Given the description of an element on the screen output the (x, y) to click on. 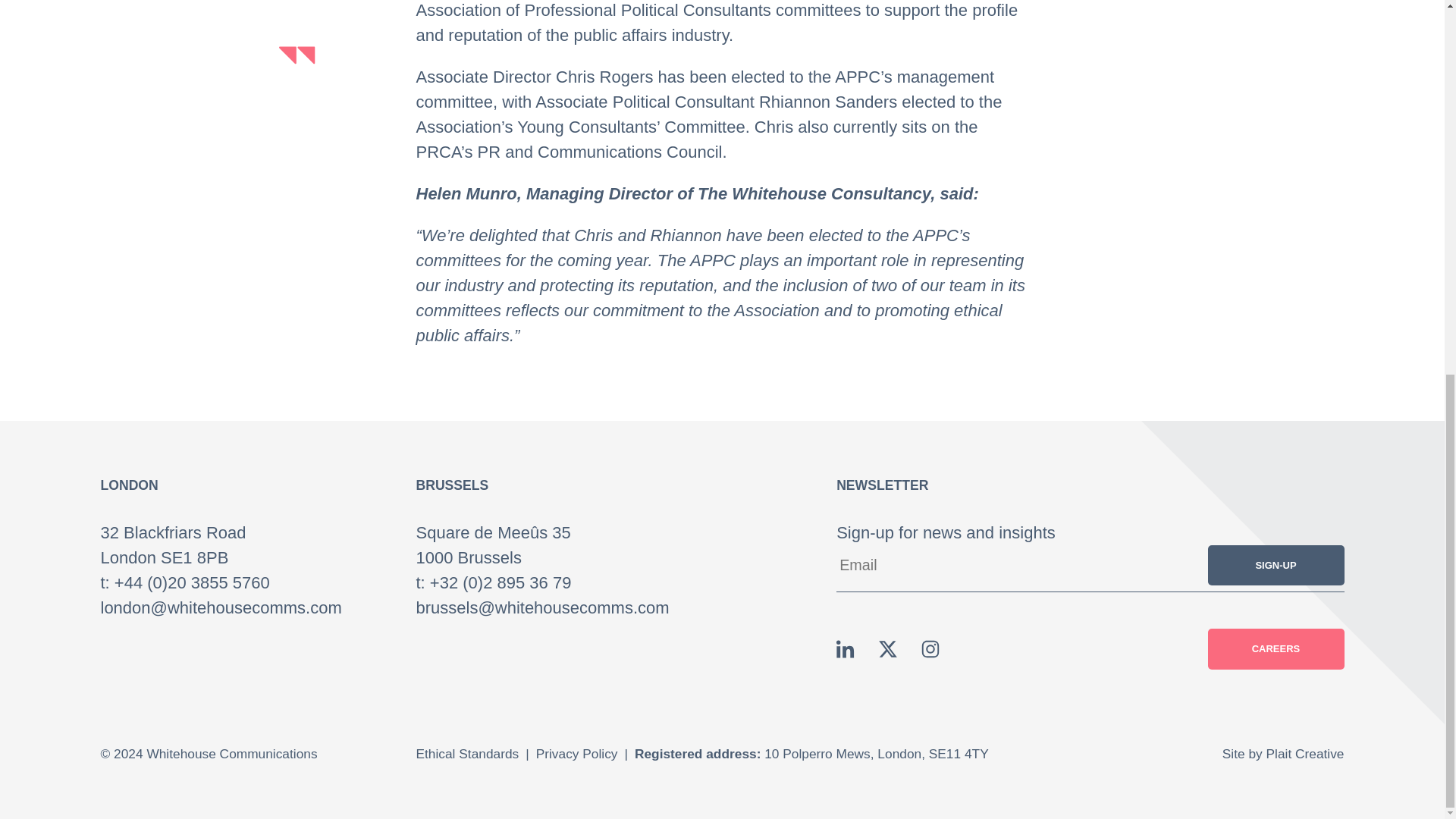
CAREERS (1275, 648)
Sign-up (1275, 565)
Ethical Standards (467, 753)
Plait Creative (1304, 753)
Sign-up (1275, 565)
Privacy Policy (576, 753)
